Given the description of an element on the screen output the (x, y) to click on. 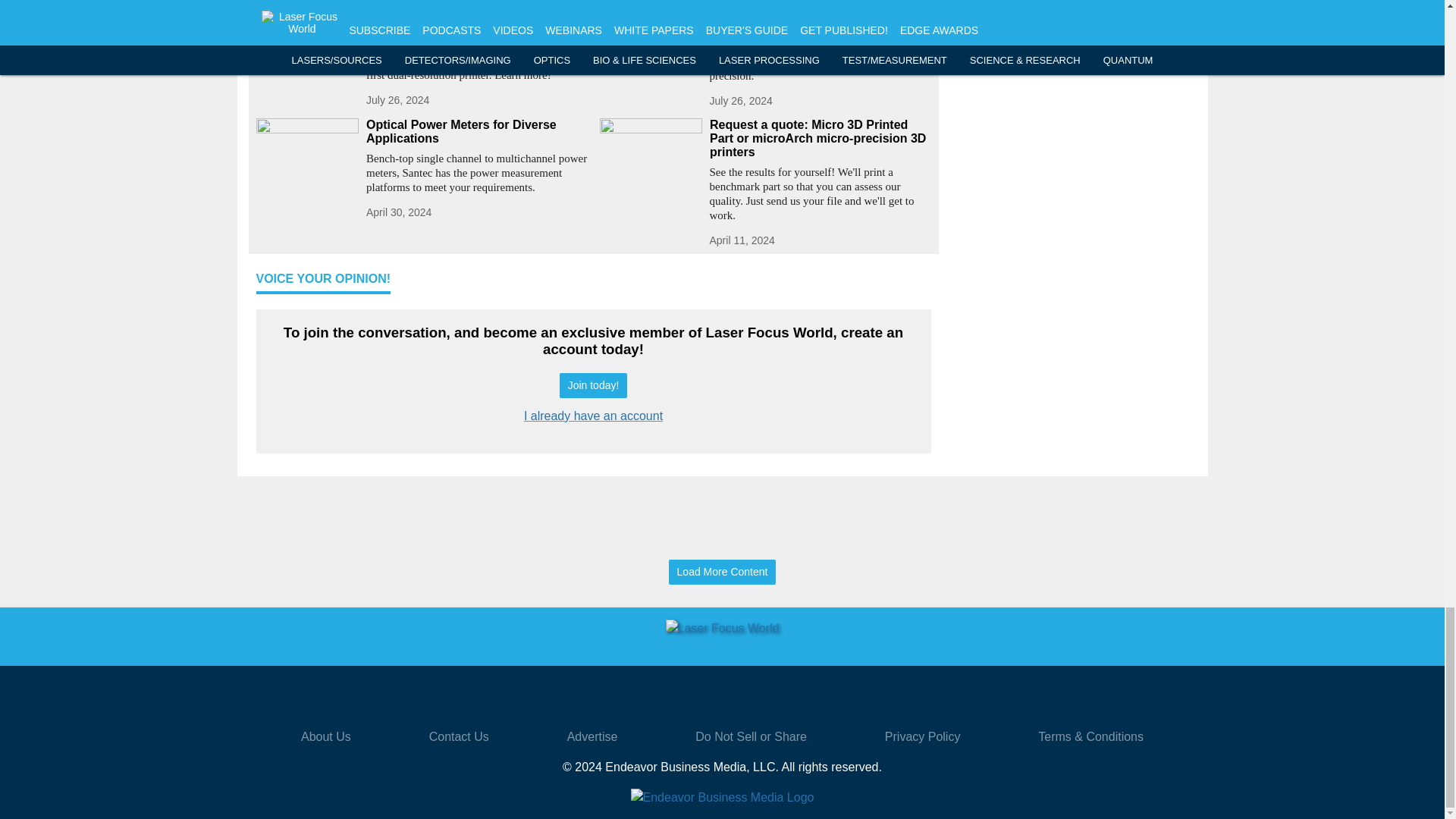
Optical Power Meters for Diverse Applications (476, 131)
